Given the description of an element on the screen output the (x, y) to click on. 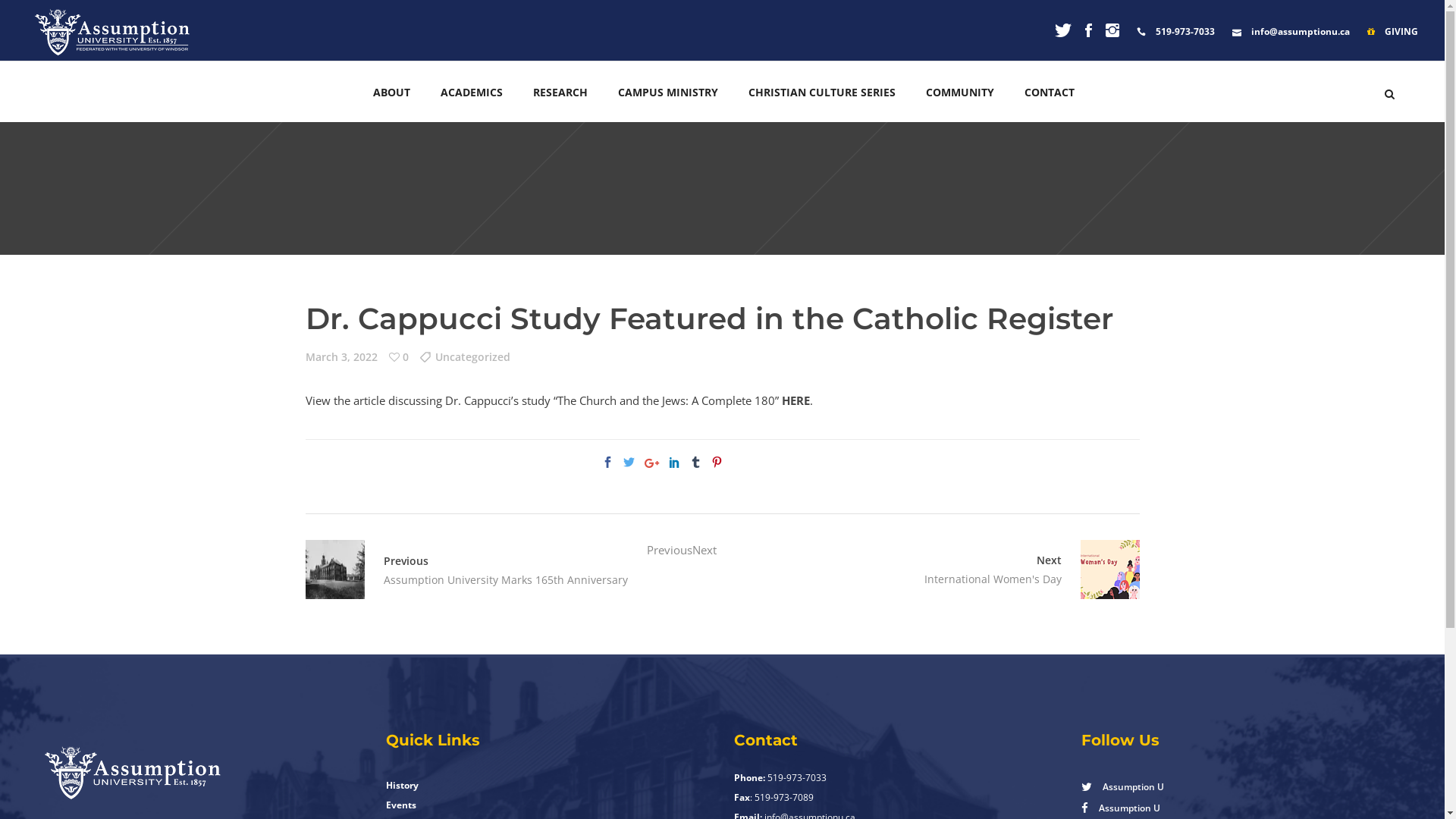
0 Element type: text (397, 356)
March 3, 2022 Element type: text (340, 356)
CONTACT Element type: text (1049, 91)
Next
International Women's Day Element type: text (1100, 569)
ABOUT Element type: text (391, 91)
Previous
Assumption University Marks 165th Anniversary Element type: text (475, 569)
Events Element type: text (400, 804)
History Element type: text (401, 784)
Uncategorized Element type: text (465, 356)
Assumption U Element type: text (1243, 786)
CAMPUS MINISTRY Element type: text (667, 91)
info@assumptionu.ca Element type: text (1290, 32)
ACADEMICS Element type: text (471, 91)
RESEARCH Element type: text (559, 91)
COMMUNITY Element type: text (959, 91)
GIVING Element type: text (1392, 32)
HERE Element type: text (795, 399)
CHRISTIAN CULTURE SERIES Element type: text (821, 91)
Assumption U Element type: text (1243, 807)
519-973-7033 Element type: text (1175, 32)
